Given the description of an element on the screen output the (x, y) to click on. 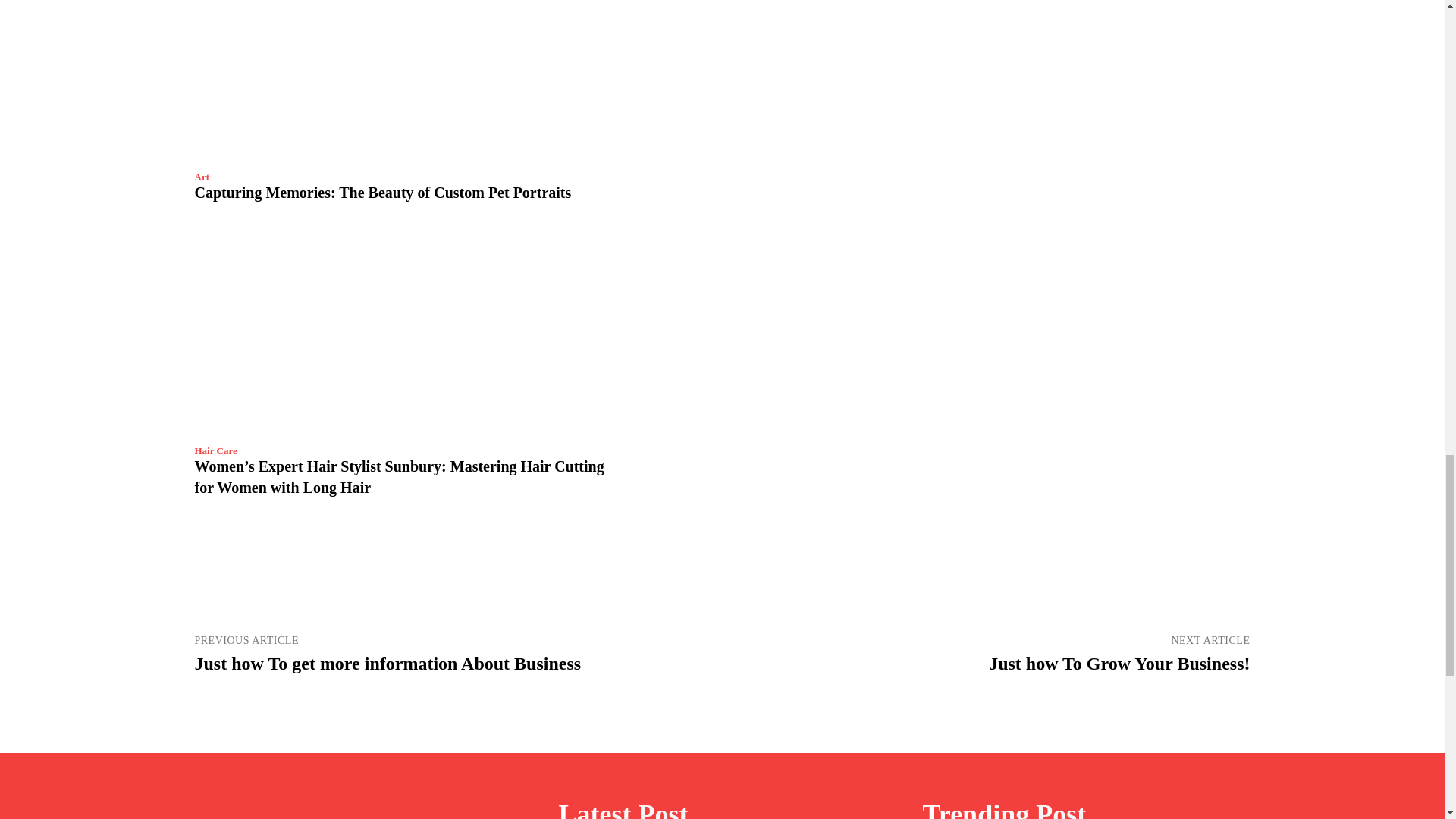
Capturing Memories: The Beauty of Custom Pet Portraits (381, 192)
Capturing Memories: The Beauty of Custom Pet Portraits (402, 81)
